Given the description of an element on the screen output the (x, y) to click on. 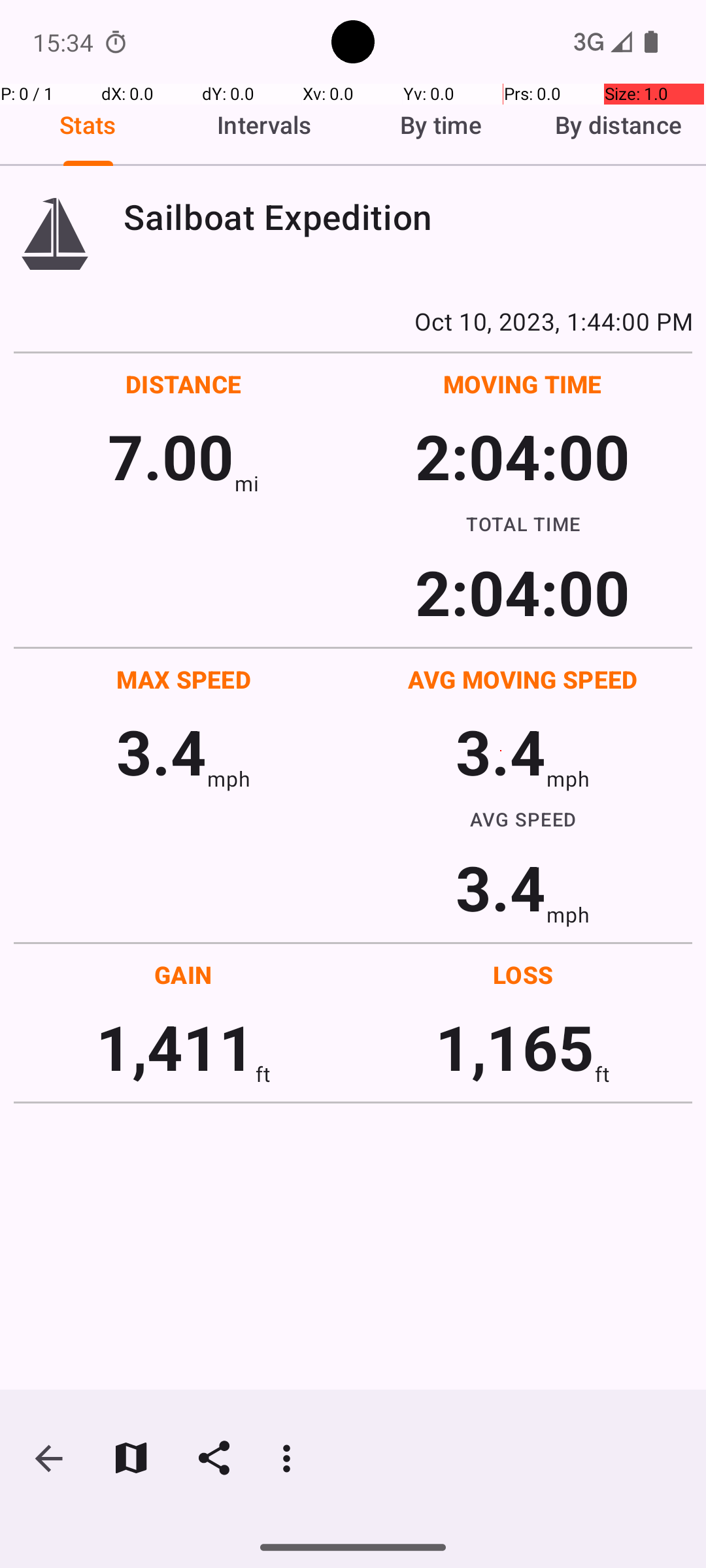
Sailboat Expedition Element type: android.widget.TextView (407, 216)
Oct 10, 2023, 1:44:00 PM Element type: android.widget.TextView (352, 320)
7.00 Element type: android.widget.TextView (170, 455)
2:04:00 Element type: android.widget.TextView (522, 455)
3.4 Element type: android.widget.TextView (161, 750)
1,411 Element type: android.widget.TextView (175, 1045)
1,165 Element type: android.widget.TextView (514, 1045)
